Given the description of an element on the screen output the (x, y) to click on. 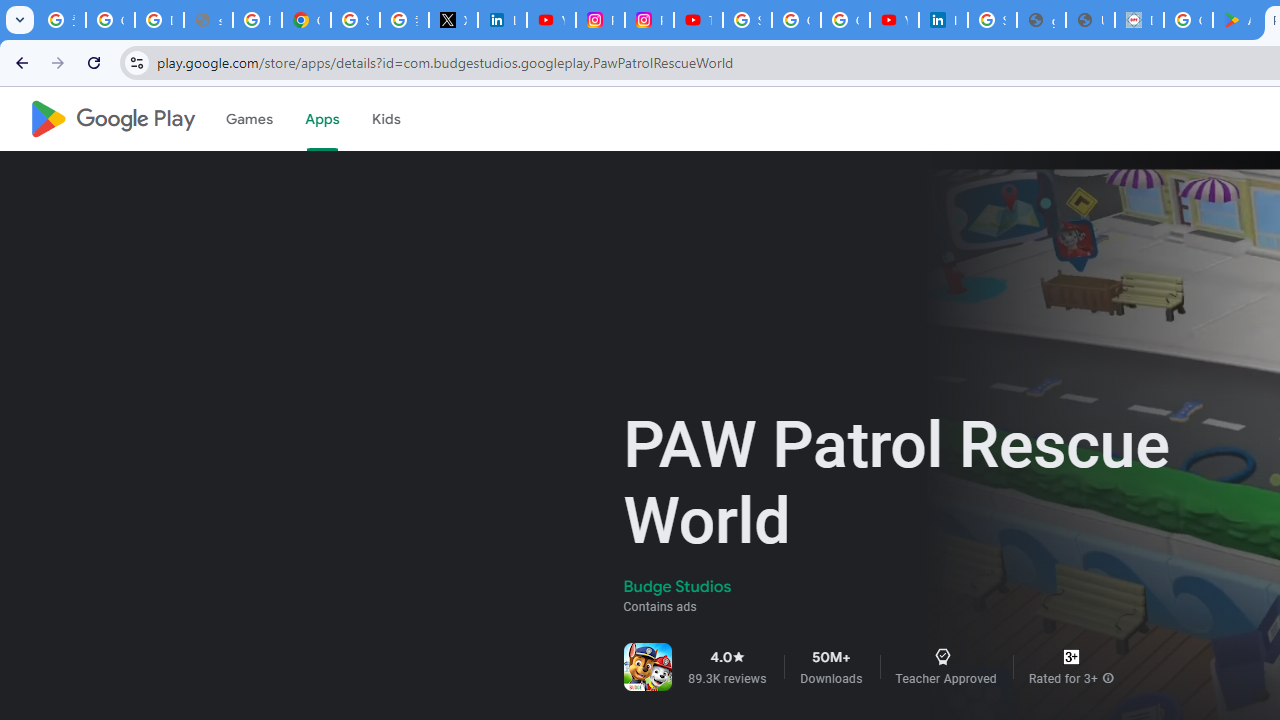
Kids (385, 119)
Privacy Help Center - Policies Help (257, 20)
Sign in - Google Accounts (747, 20)
